Given the description of an element on the screen output the (x, y) to click on. 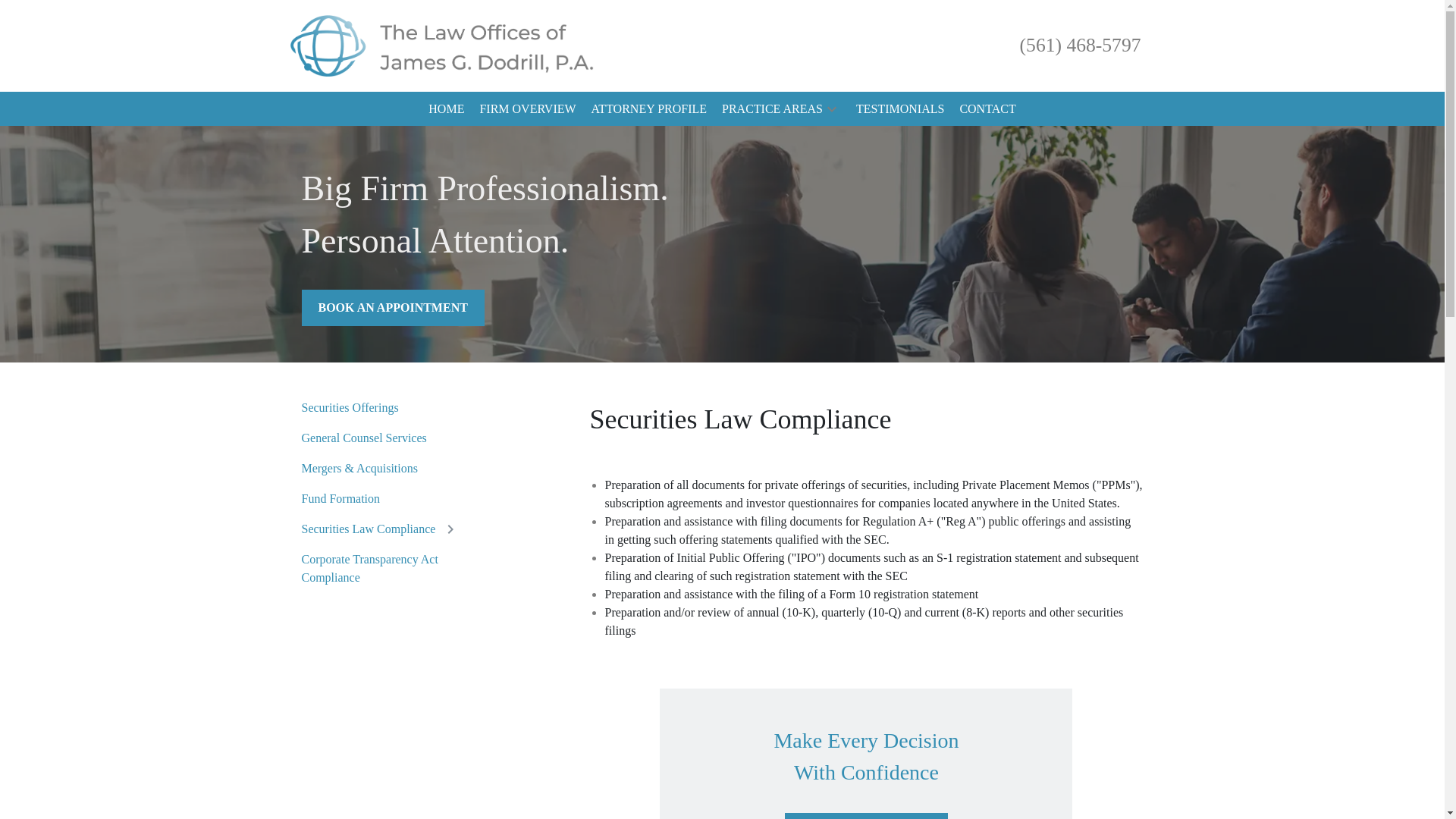
Fund Formation (340, 498)
Securities Law Compliance (368, 529)
General Counsel Services (363, 438)
BOOK AN APPOINTMENT (392, 307)
HOME (446, 108)
CONTACT (986, 108)
ATTORNEY PROFILE (648, 108)
Corporate Transparency Act Compliance (398, 568)
FIRM OVERVIEW (527, 108)
TESTIMONIALS (899, 108)
